Given the description of an element on the screen output the (x, y) to click on. 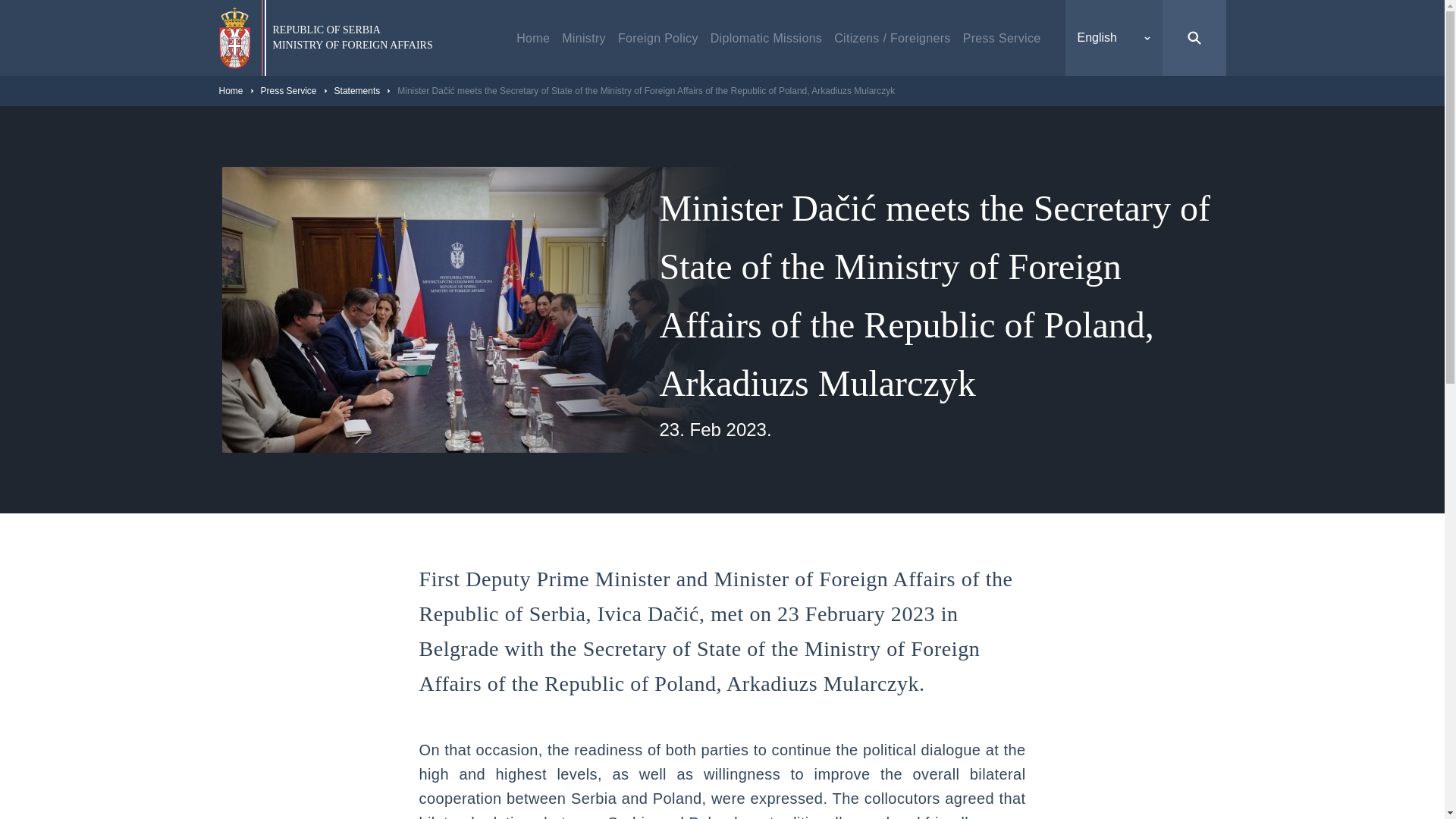
Home (352, 37)
Ministry (533, 37)
Skip to main content (583, 37)
